Given the description of an element on the screen output the (x, y) to click on. 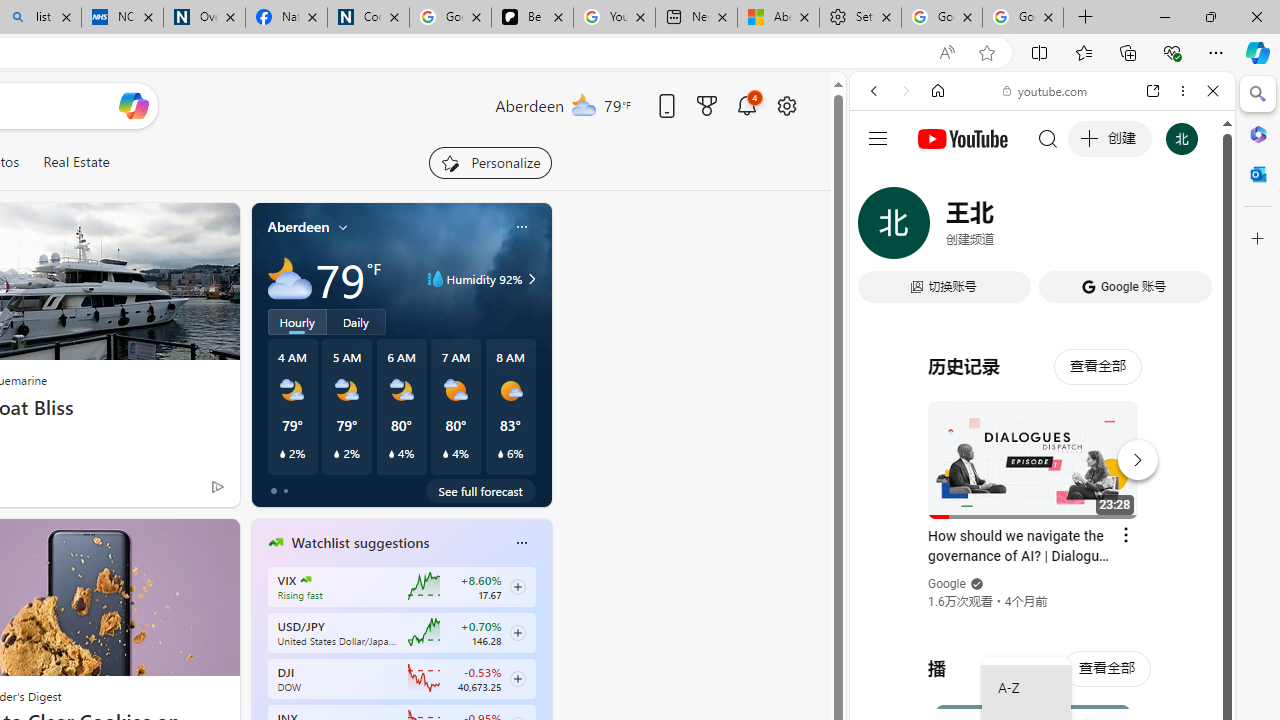
YouTube (1034, 296)
